Given the description of an element on the screen output the (x, y) to click on. 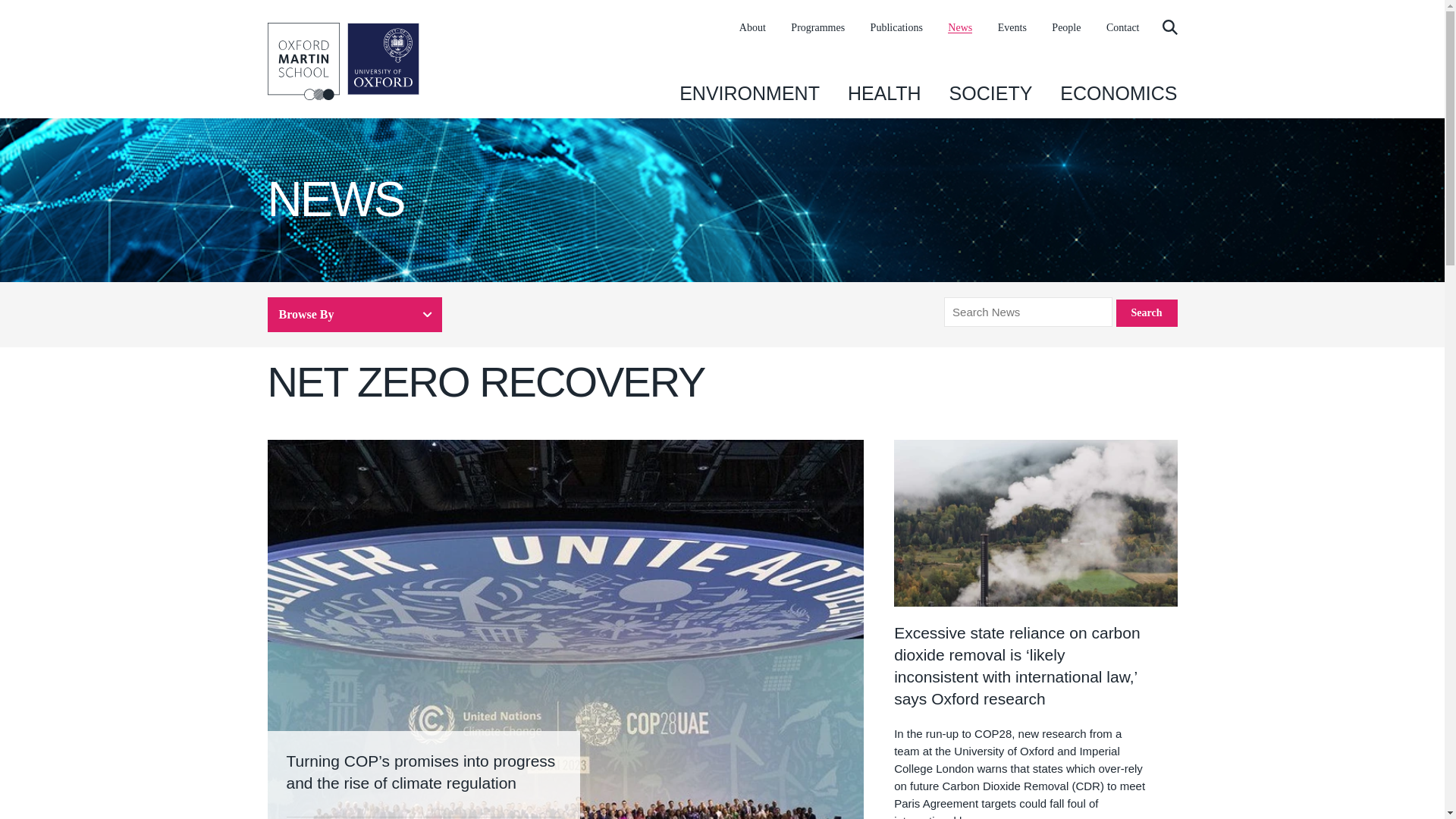
People (1065, 27)
About (752, 27)
HEALTH (884, 92)
SOCIETY (990, 92)
ENVIRONMENT (749, 92)
Research highlights by theme - Economics (1117, 92)
Publications (896, 27)
About our Research Programmes (817, 27)
People Listings (1065, 27)
Contact (1123, 27)
News (959, 27)
ECONOMICS (1117, 92)
Get in Touch (1123, 27)
Research highlights by theme - Environment (749, 92)
Programmes (817, 27)
